Given the description of an element on the screen output the (x, y) to click on. 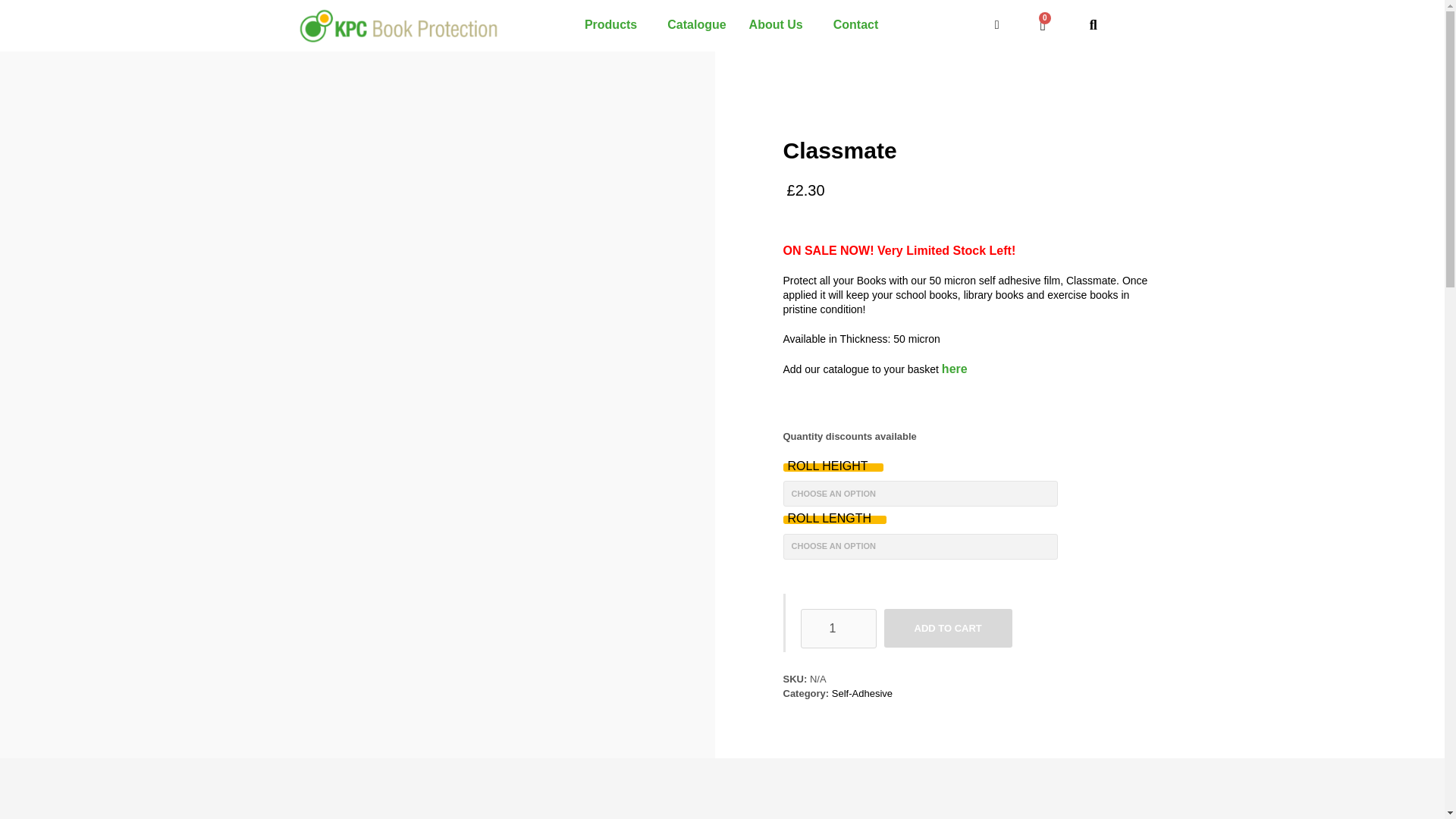
here (955, 369)
1 (838, 628)
Self-Adhesive (861, 693)
ADD TO CART (947, 628)
Contact (860, 24)
Products (614, 24)
Catalogue (696, 24)
About Us (780, 24)
